Given the description of an element on the screen output the (x, y) to click on. 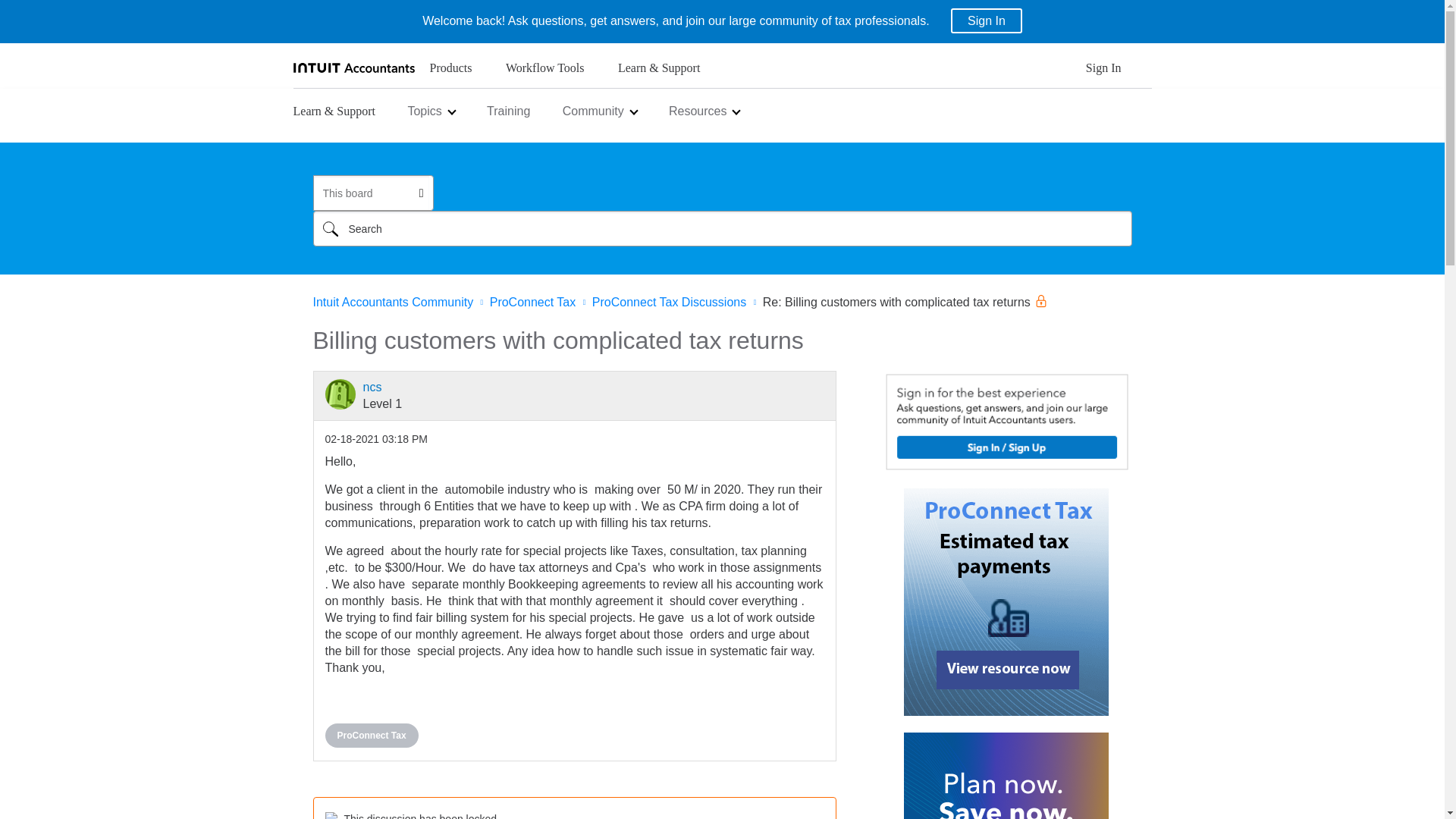
Sign In (986, 20)
Sign In (1103, 72)
Search (722, 228)
ncs (339, 394)
Posted on (375, 439)
Search Granularity (371, 192)
Search (330, 228)
Search (330, 228)
